Given the description of an element on the screen output the (x, y) to click on. 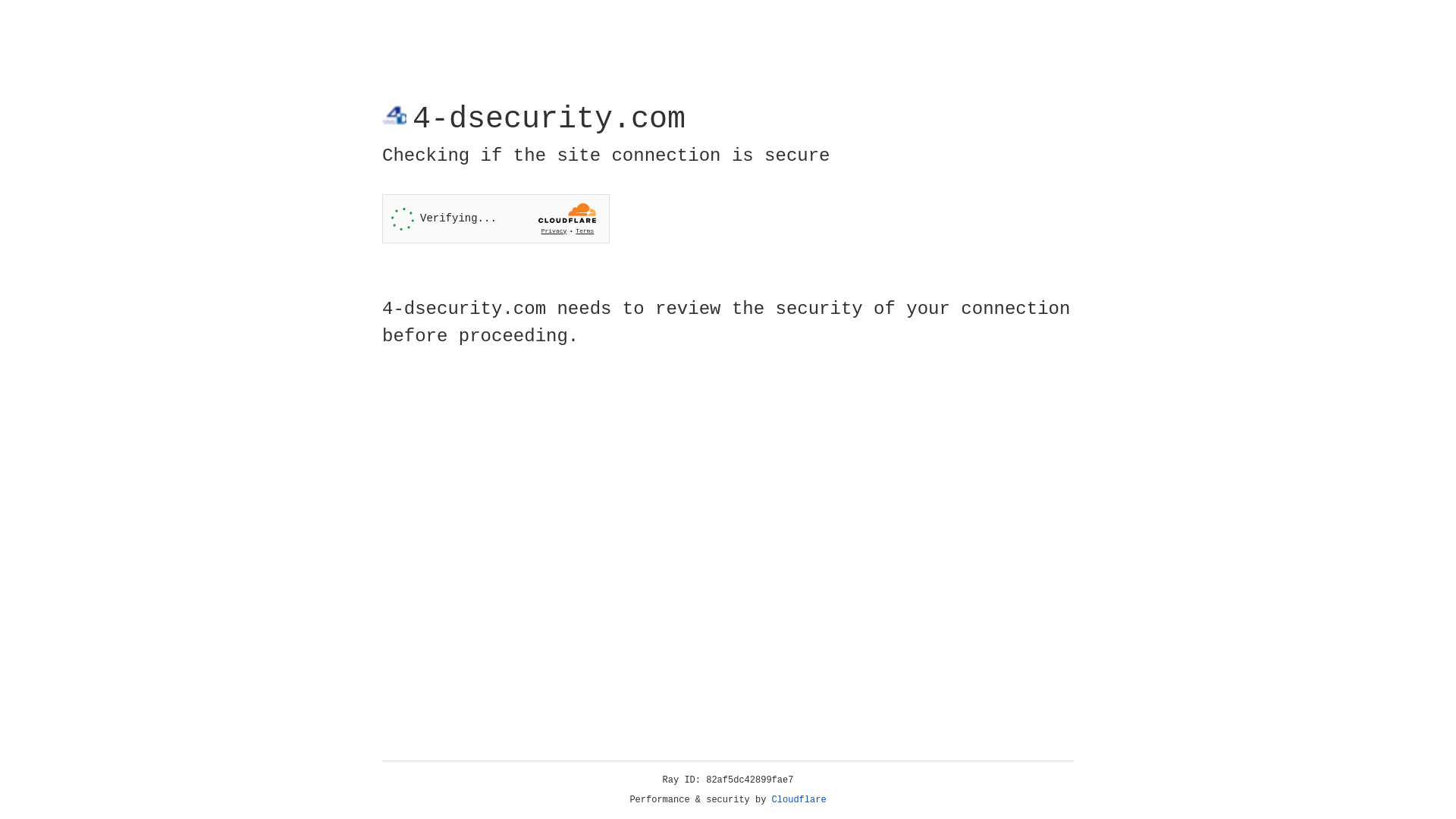
Cloudflare Element type: text (798, 799)
Widget containing a Cloudflare security challenge Element type: hover (495, 218)
